Given the description of an element on the screen output the (x, y) to click on. 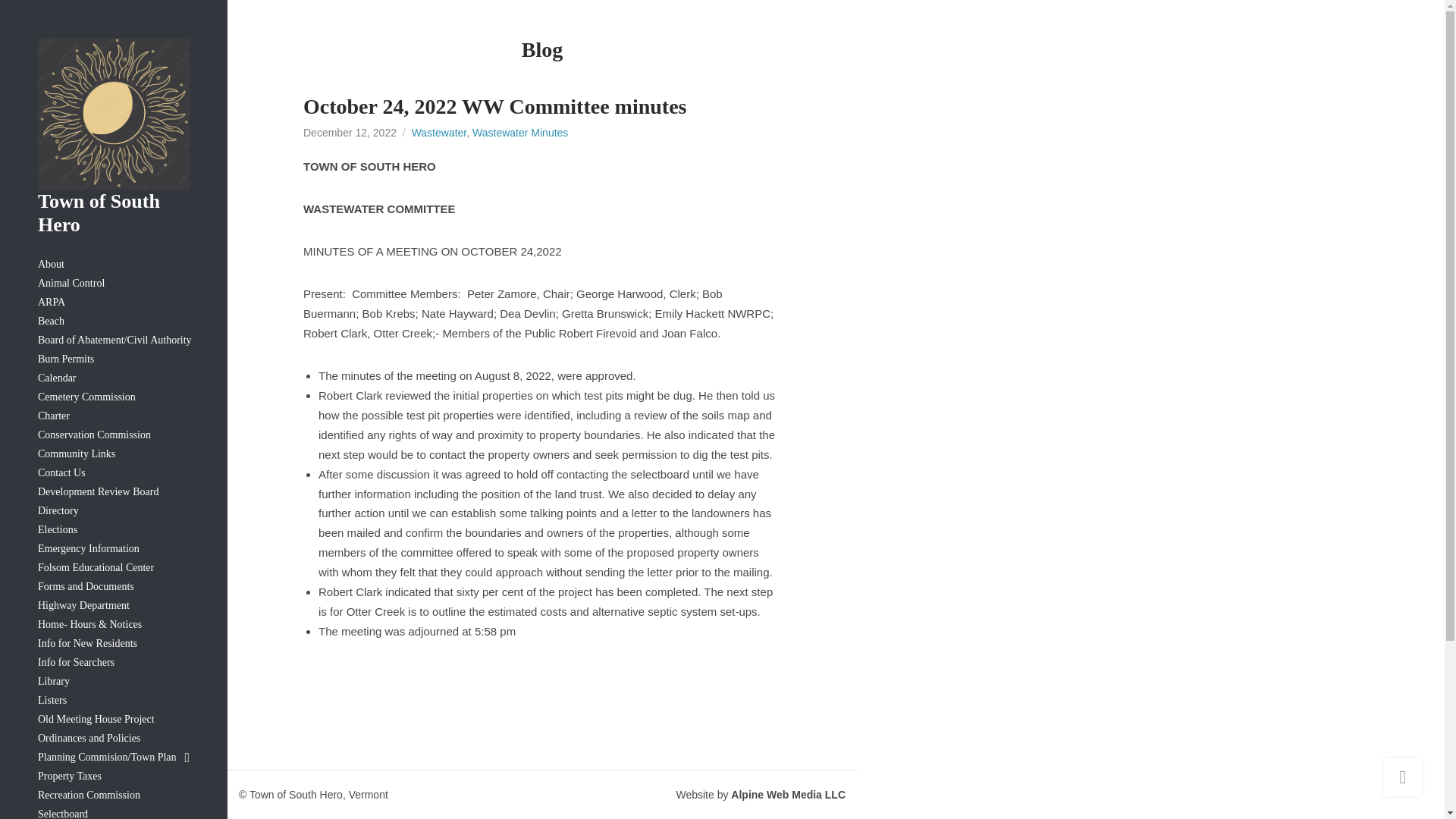
Charter (113, 416)
Conservation Commission (113, 435)
Burn Permits (113, 359)
Library (113, 681)
Old Meeting House Project (113, 719)
Contact Us (113, 473)
Community Links (113, 454)
Highway Department (113, 606)
Selectboard (113, 812)
Listers (113, 700)
